Given the description of an element on the screen output the (x, y) to click on. 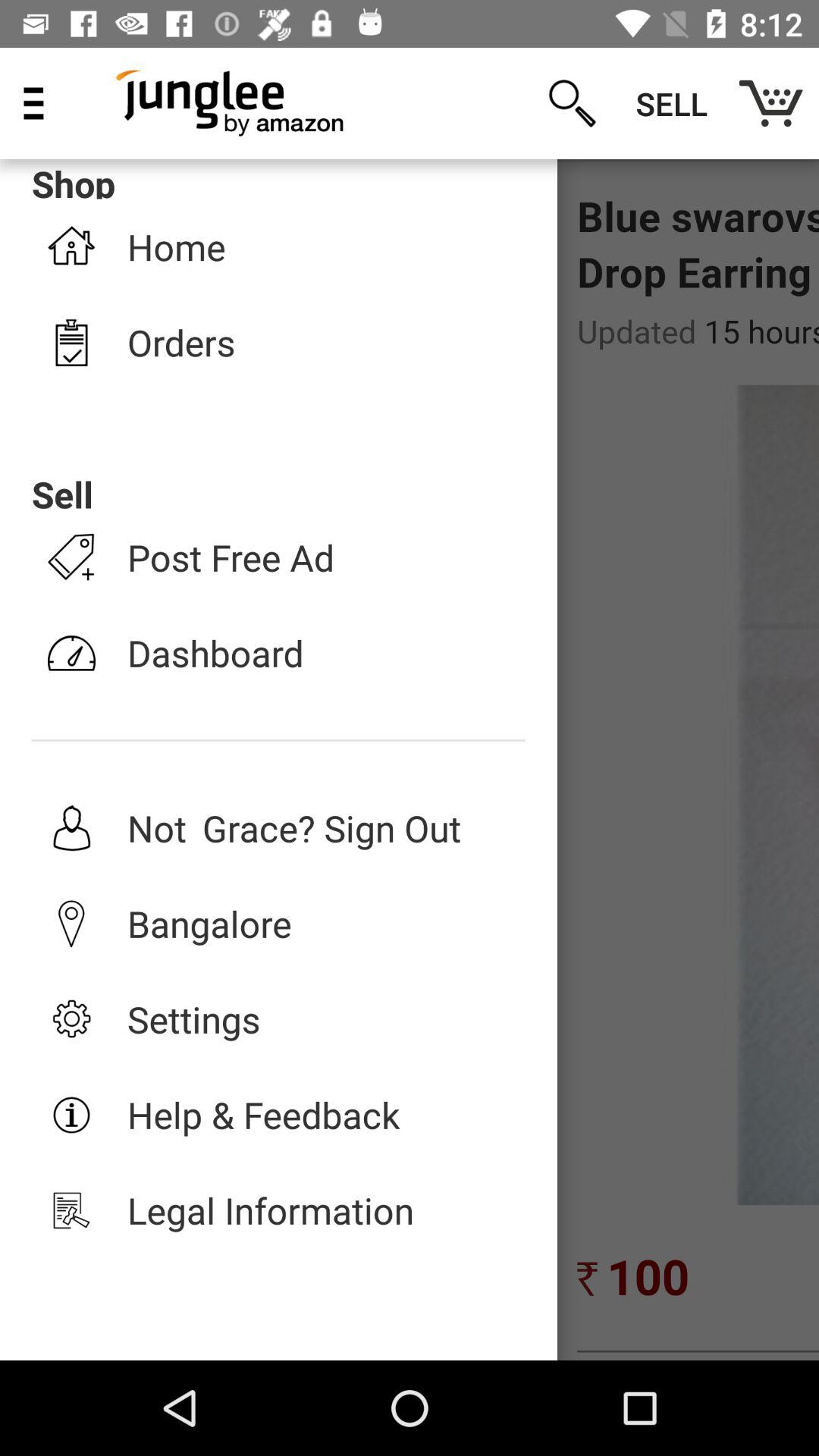
turn on item to the left of sell (571, 103)
